Given the description of an element on the screen output the (x, y) to click on. 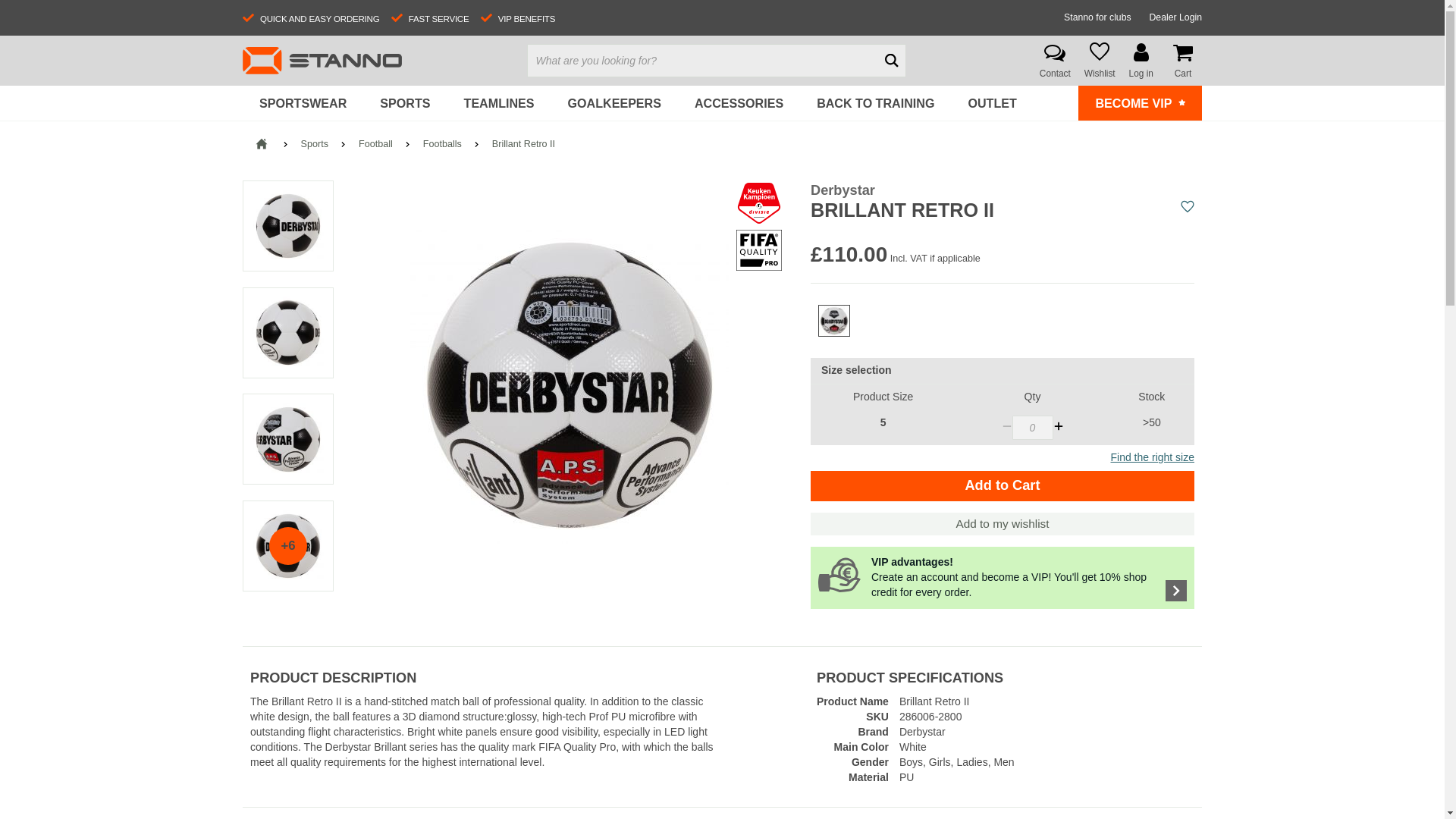
Stanno for clubs (1097, 17)
0 (1031, 427)
White (833, 320)
Qty (1031, 427)
SPORTSWEAR (302, 102)
View more images (288, 545)
Brillant Retro II (569, 385)
Home (261, 144)
Go to the homepage (322, 60)
Dealer Login (1176, 17)
